Given the description of an element on the screen output the (x, y) to click on. 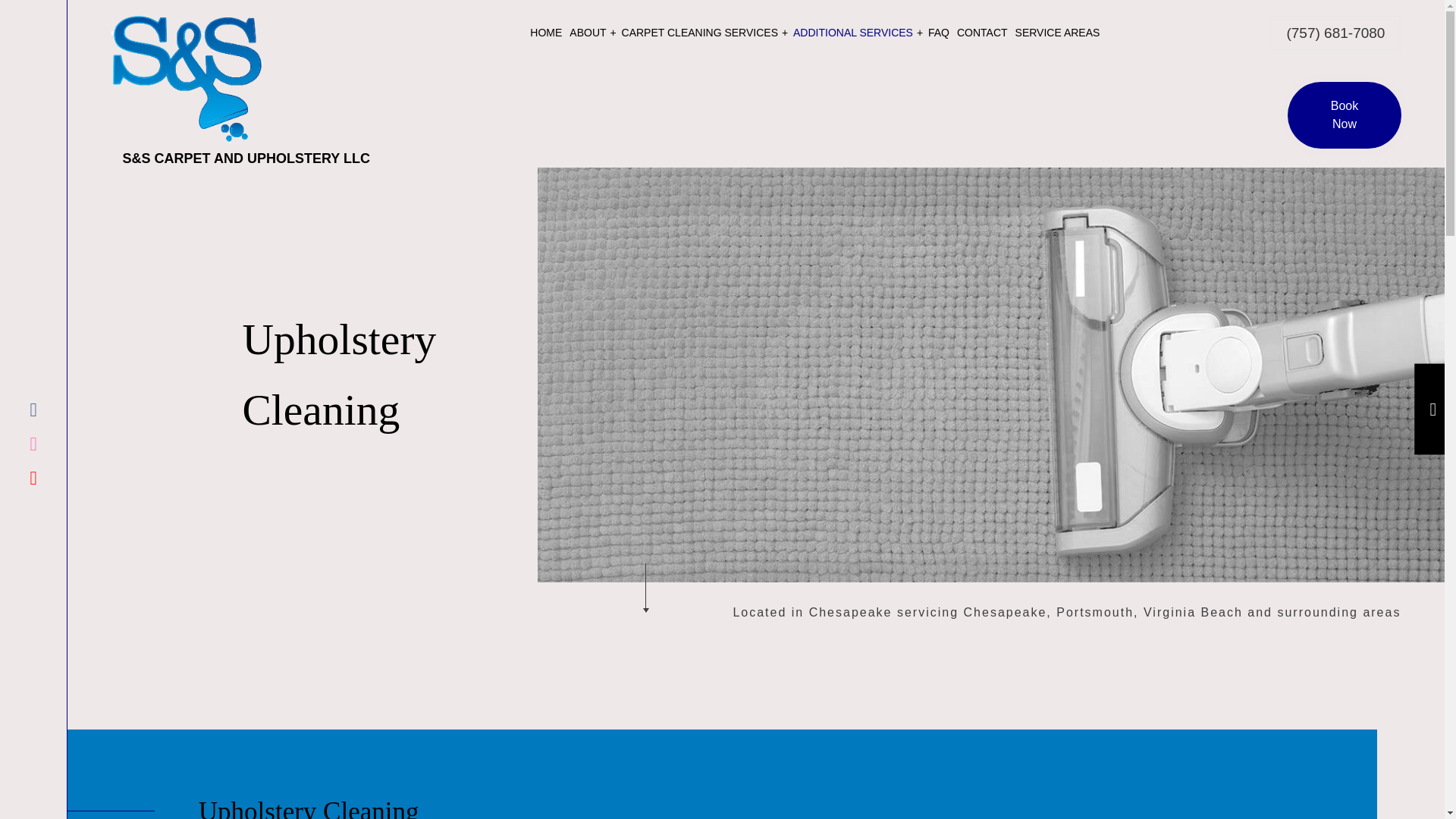
CARPET CLEANING (687, 101)
CARPET RESTORATION (913, 101)
CARPET STAIN REMOVAL (687, 128)
COMMERCIAL CARPET CLEANING (913, 128)
CARPET CLEANING SERVICES (703, 33)
TESIMONIALS (635, 101)
